Given the description of an element on the screen output the (x, y) to click on. 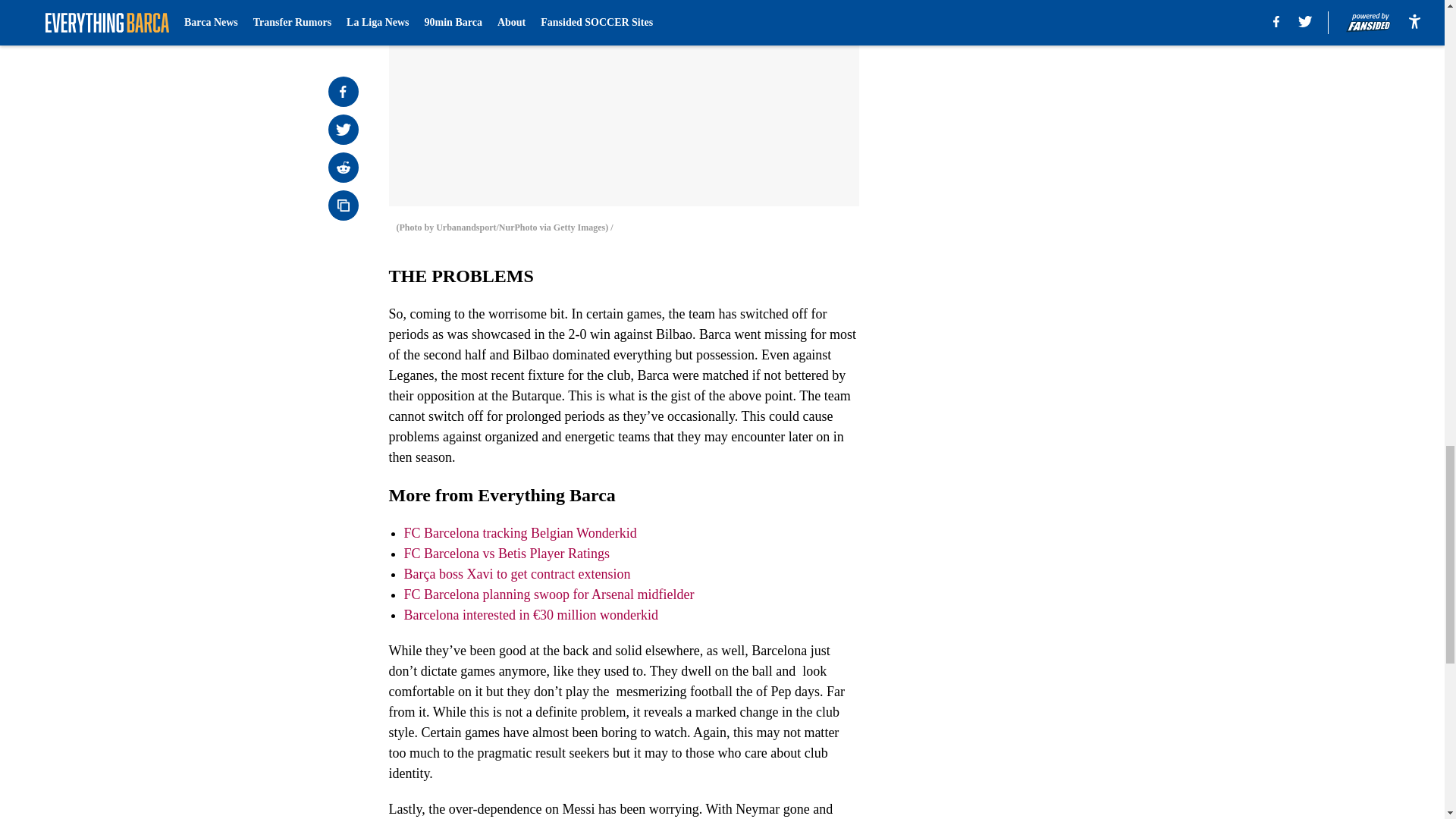
FC Barcelona tracking Belgian Wonderkid (519, 532)
FC Barcelona planning swoop for Arsenal midfielder (548, 594)
FC Barcelona vs Betis Player Ratings (505, 553)
